Given the description of an element on the screen output the (x, y) to click on. 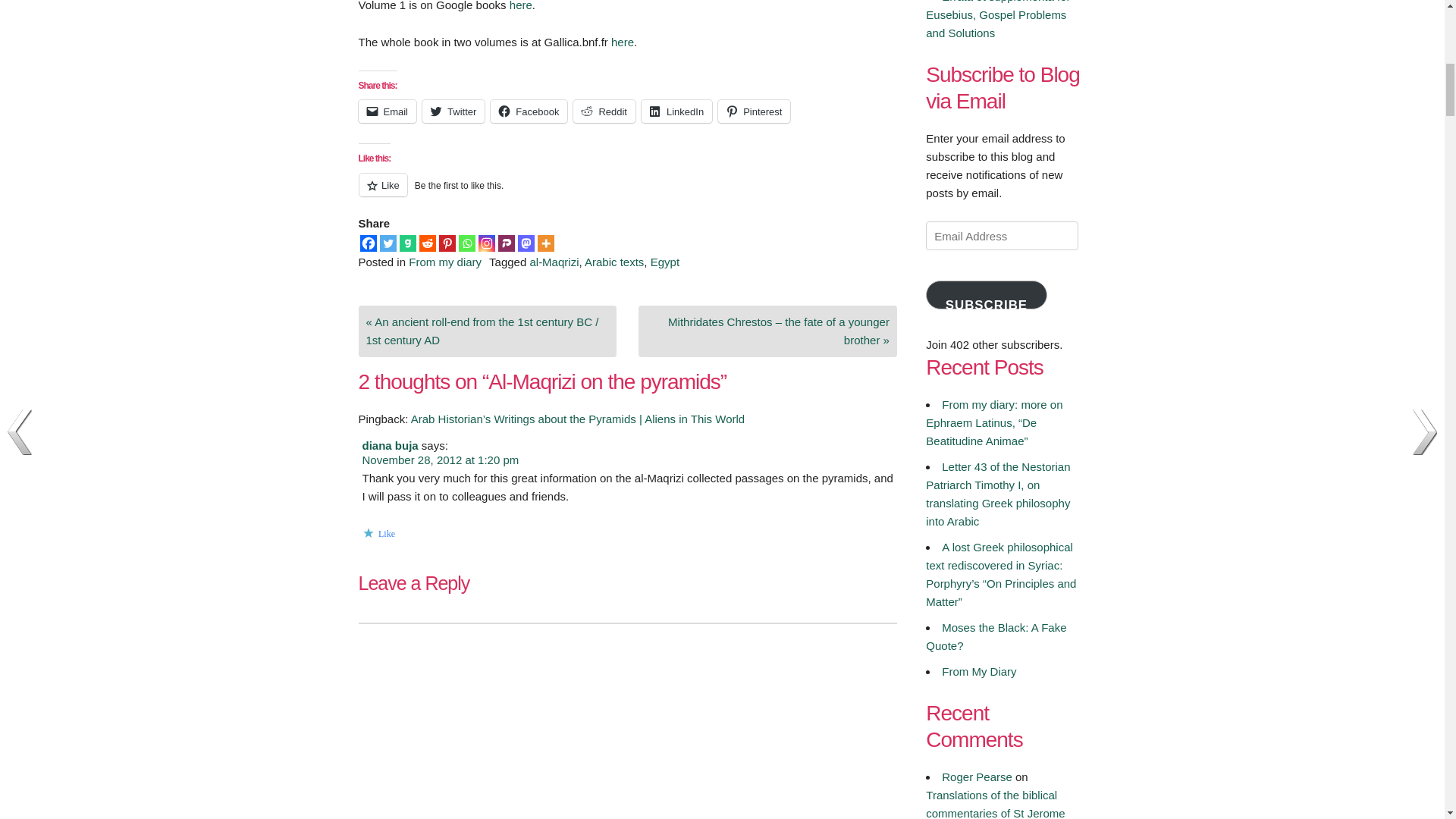
Whatsapp (466, 243)
Parler (505, 243)
Click to email a link to a friend (387, 110)
Twitter (453, 110)
Gab (406, 243)
Twitter (387, 243)
November 28, 2012 at 1:20 pm (440, 459)
Click to share on Twitter (453, 110)
here (520, 5)
Email (387, 110)
Arabic texts (614, 261)
here (622, 42)
From my diary (445, 261)
Egypt (664, 261)
Facebook (528, 110)
